Given the description of an element on the screen output the (x, y) to click on. 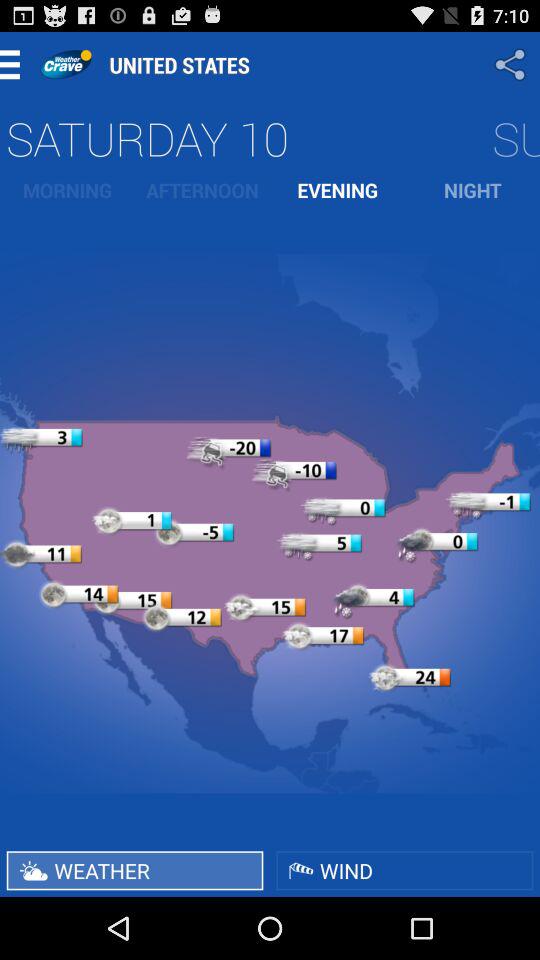
select item to the right of evening item (472, 190)
